Given the description of an element on the screen output the (x, y) to click on. 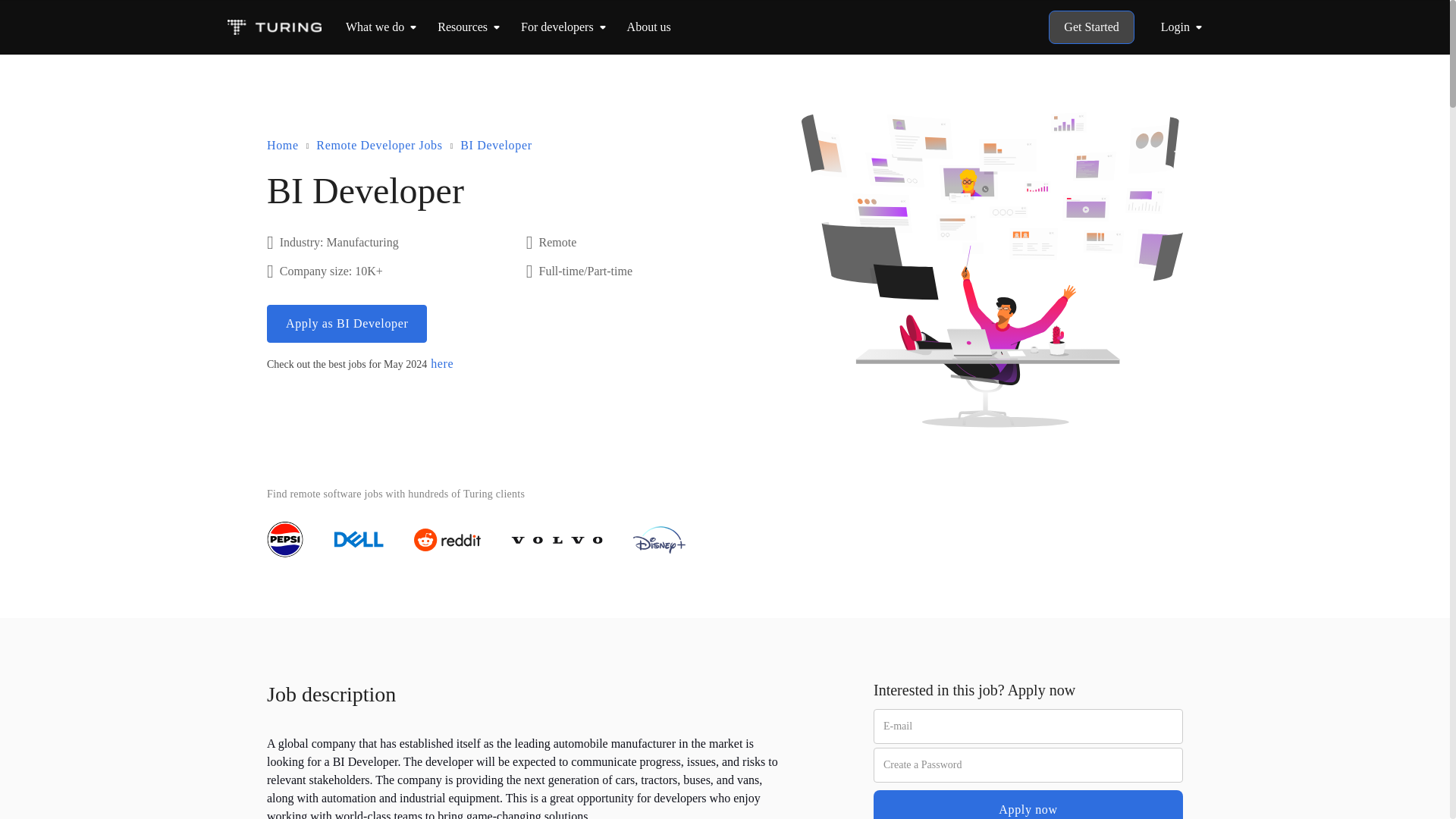
About us (649, 26)
Login (1185, 26)
Resources (462, 26)
What we do (375, 26)
For developers (557, 26)
Apply now (1027, 804)
Get Started (1091, 27)
